Given the description of an element on the screen output the (x, y) to click on. 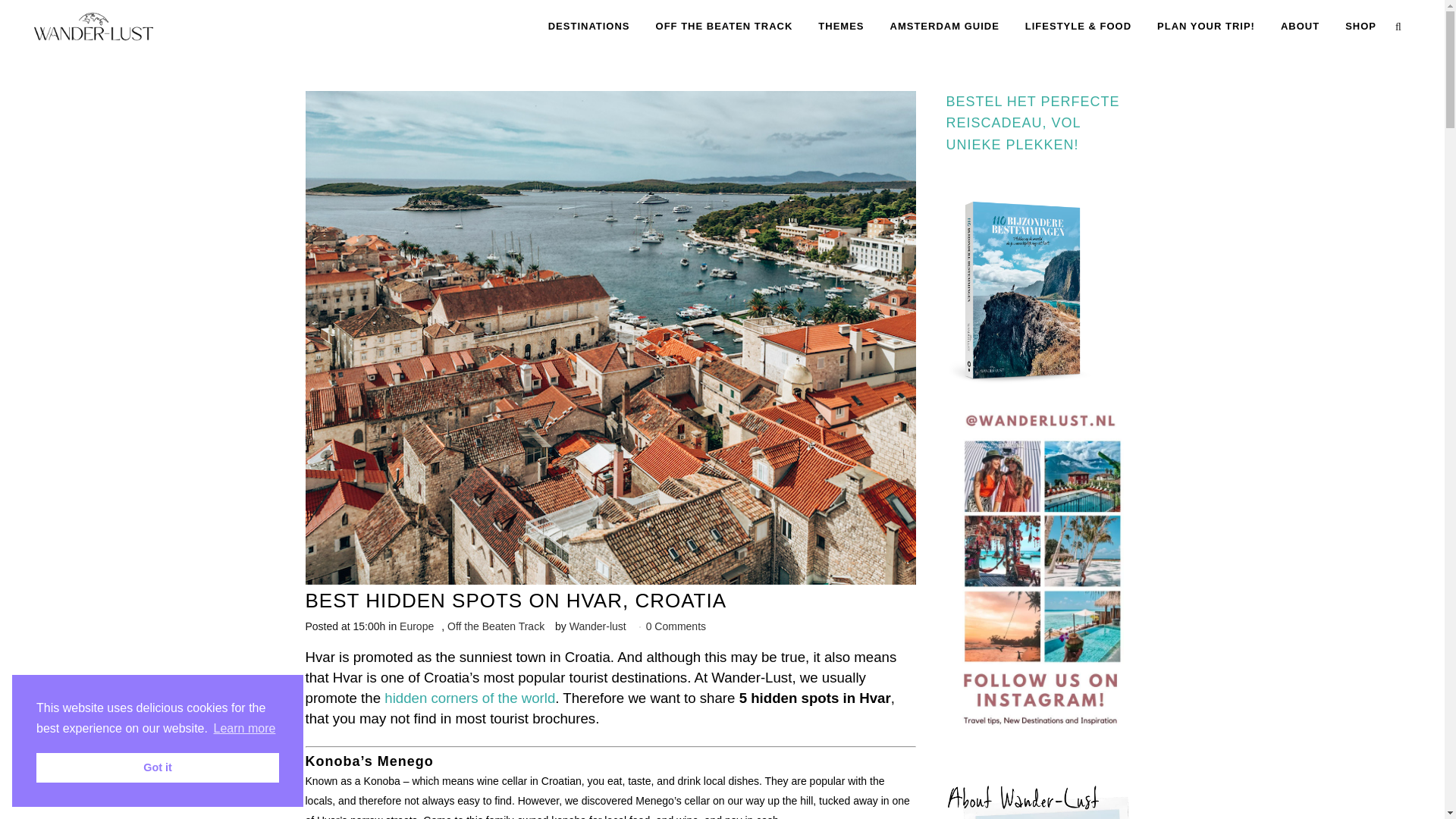
DESTINATIONS (589, 26)
AMSTERDAM GUIDE (944, 26)
OFF THE BEATEN TRACK (724, 26)
THEMES (840, 26)
